Given the description of an element on the screen output the (x, y) to click on. 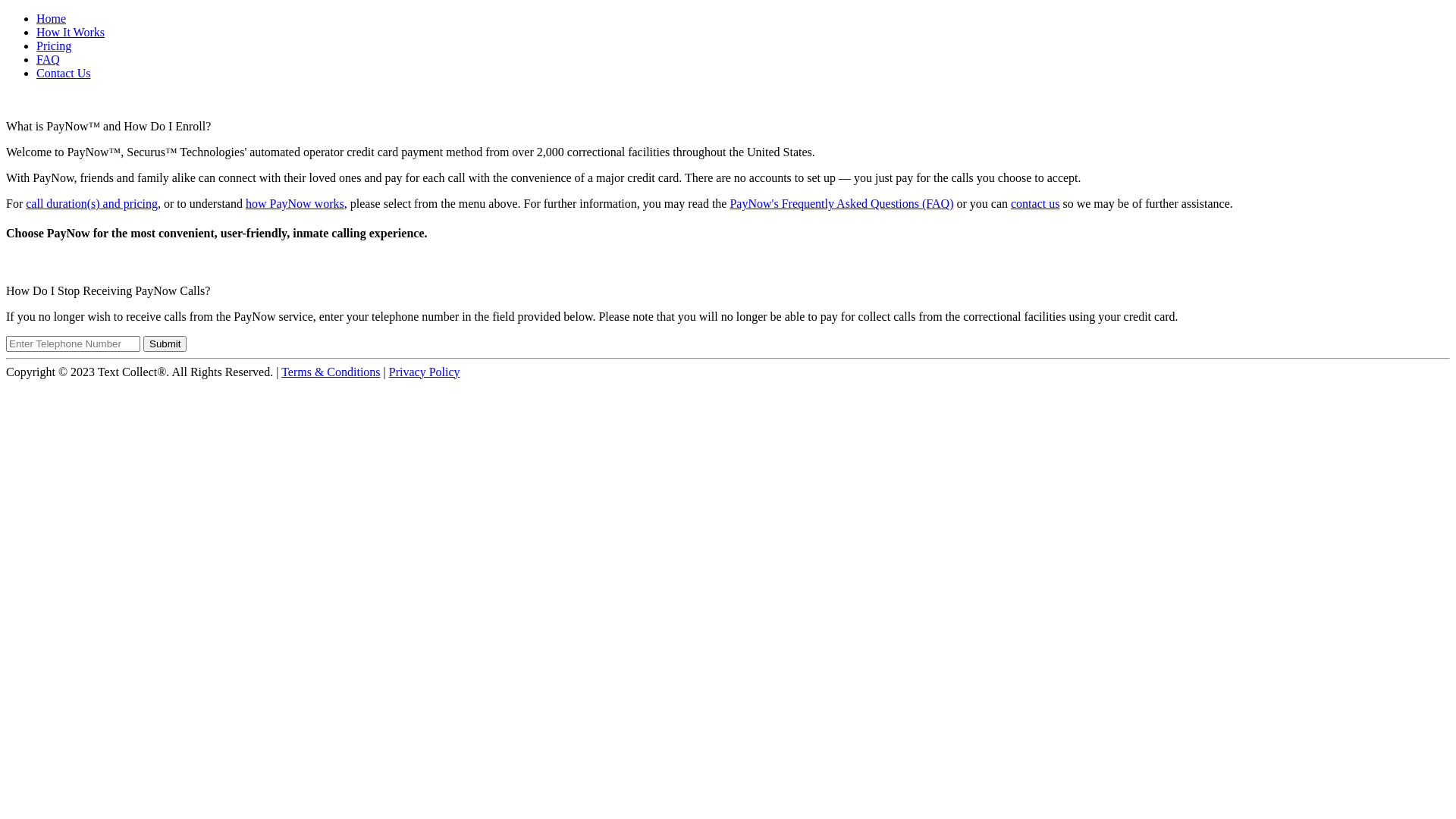
Contact Us Element type: text (63, 72)
contact us Element type: text (1034, 203)
how PayNow works Element type: text (294, 203)
Home Element type: text (50, 18)
Terms & Conditions Element type: text (330, 371)
Submit Element type: text (164, 343)
How It Works Element type: text (70, 31)
call duration(s) and pricing Element type: text (91, 203)
FAQ Element type: text (47, 59)
PayNow's Frequently Asked Questions (FAQ) Element type: text (841, 203)
Pricing Element type: text (53, 45)
Privacy Policy Element type: text (424, 371)
